Given the description of an element on the screen output the (x, y) to click on. 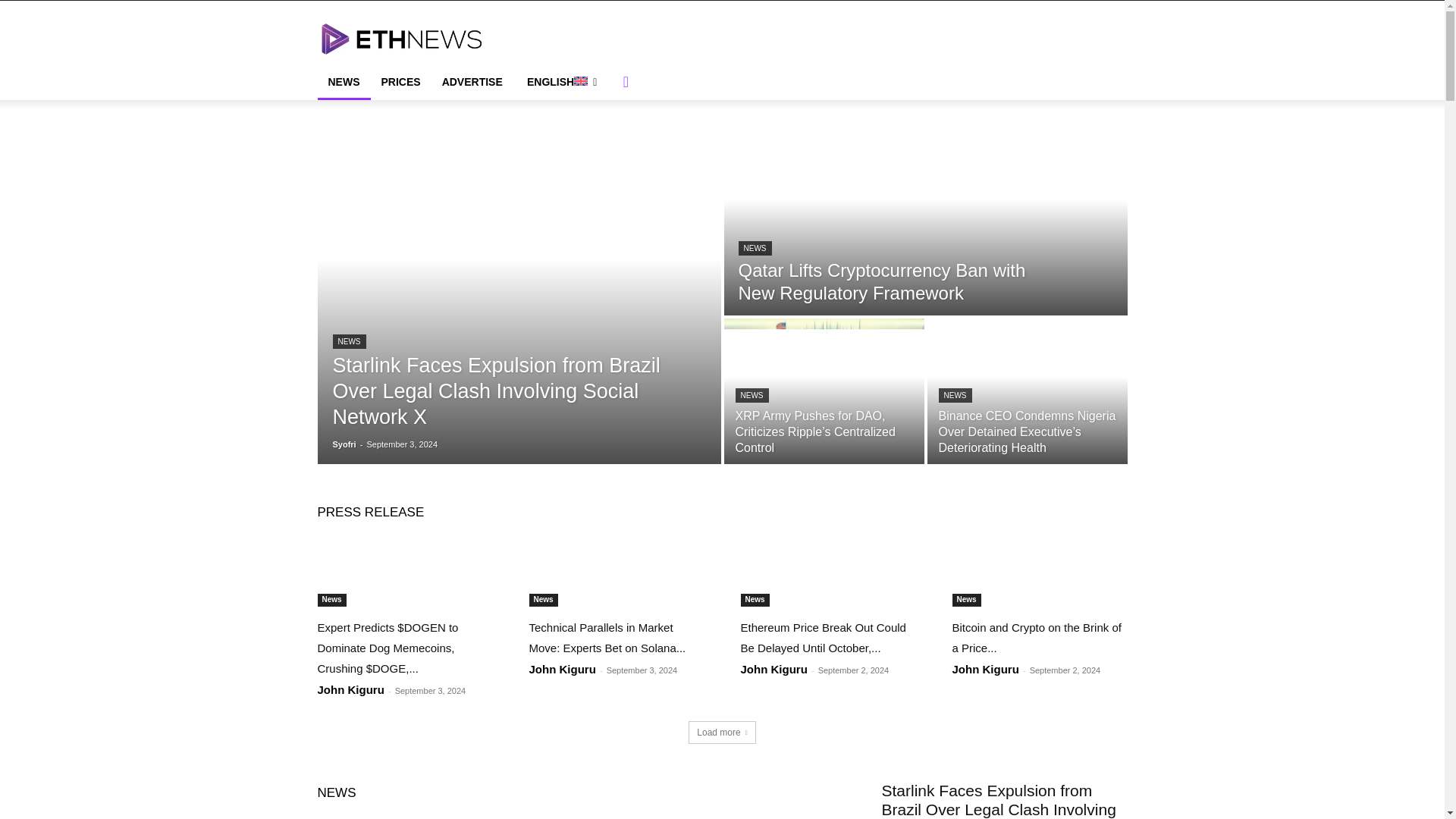
ENGLISH (560, 81)
NEWS (751, 395)
NEWS (754, 247)
Qatar Lifts Cryptocurrency Ban with New Regulatory Framework (924, 218)
NEWS (348, 341)
Qatar Lifts Cryptocurrency Ban with New Regulatory Framework (882, 281)
ADVERTISE (471, 81)
PRICES (399, 81)
